Given the description of an element on the screen output the (x, y) to click on. 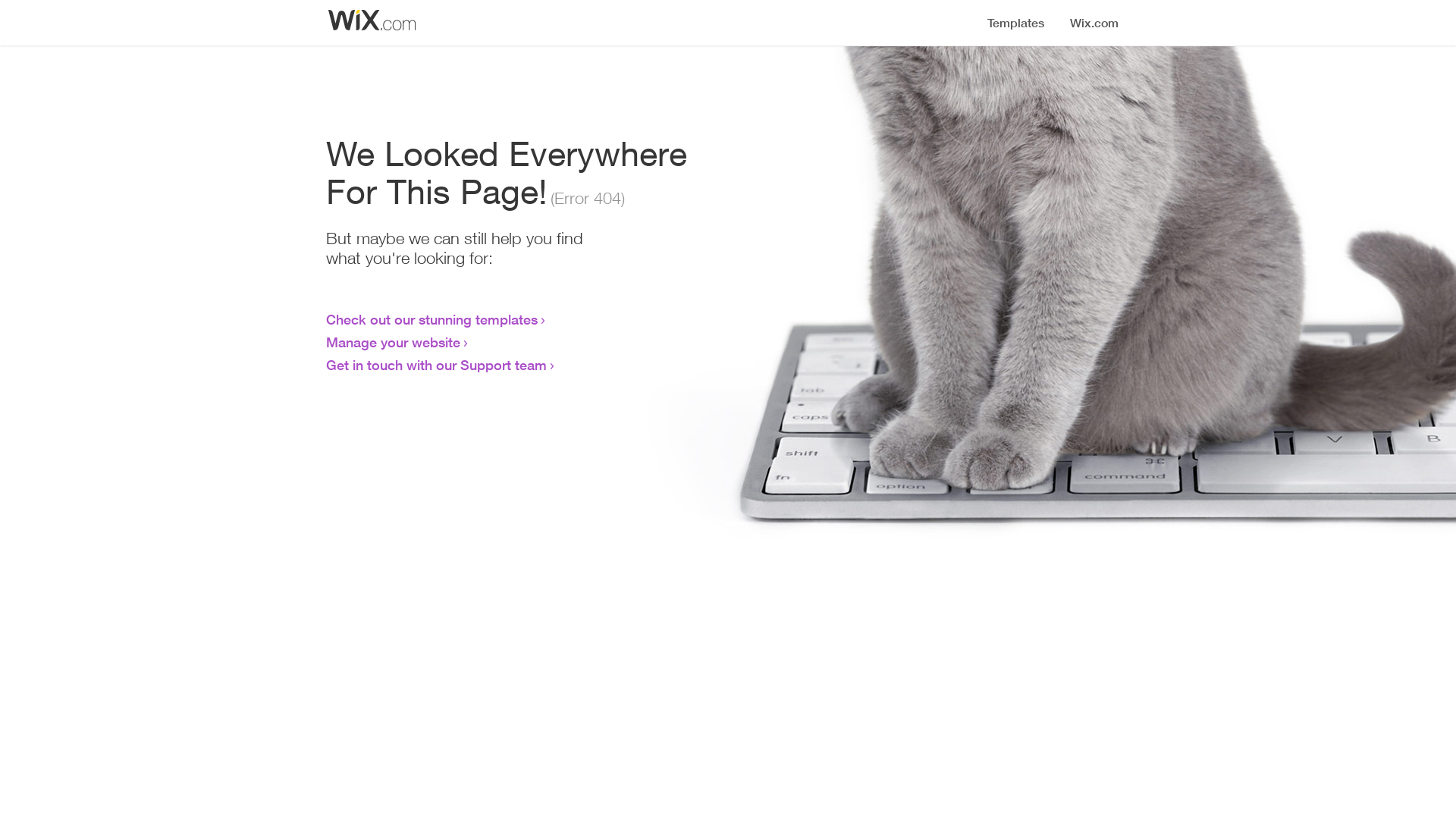
Check out our stunning templates Element type: text (431, 318)
Manage your website Element type: text (393, 341)
Get in touch with our Support team Element type: text (436, 364)
